Given the description of an element on the screen output the (x, y) to click on. 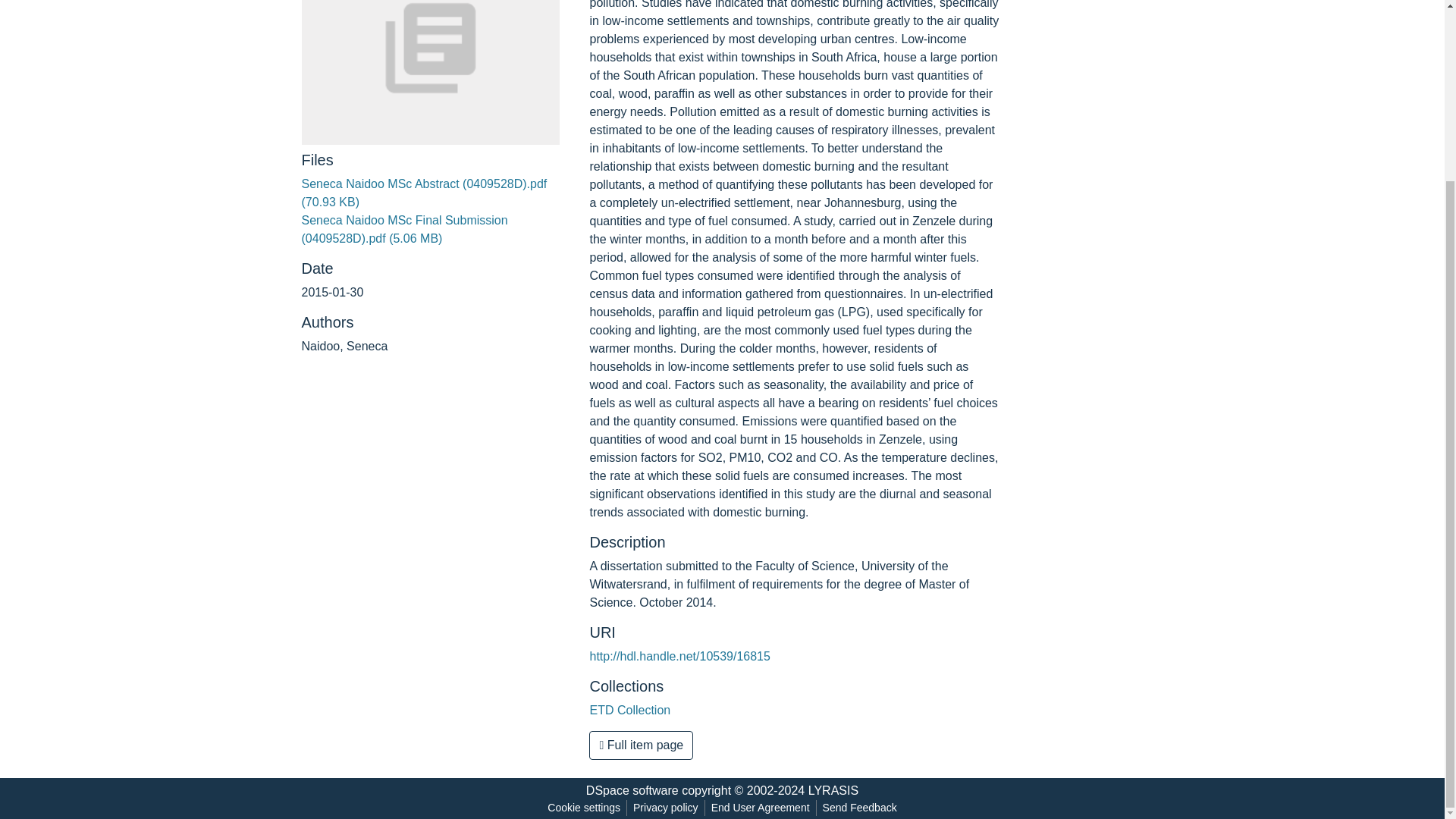
LYRASIS (833, 789)
Cookie settings (583, 807)
Send Feedback (859, 807)
Full item page (641, 745)
End User Agreement (759, 807)
ETD Collection (629, 709)
DSpace software (632, 789)
Privacy policy (665, 807)
